Given the description of an element on the screen output the (x, y) to click on. 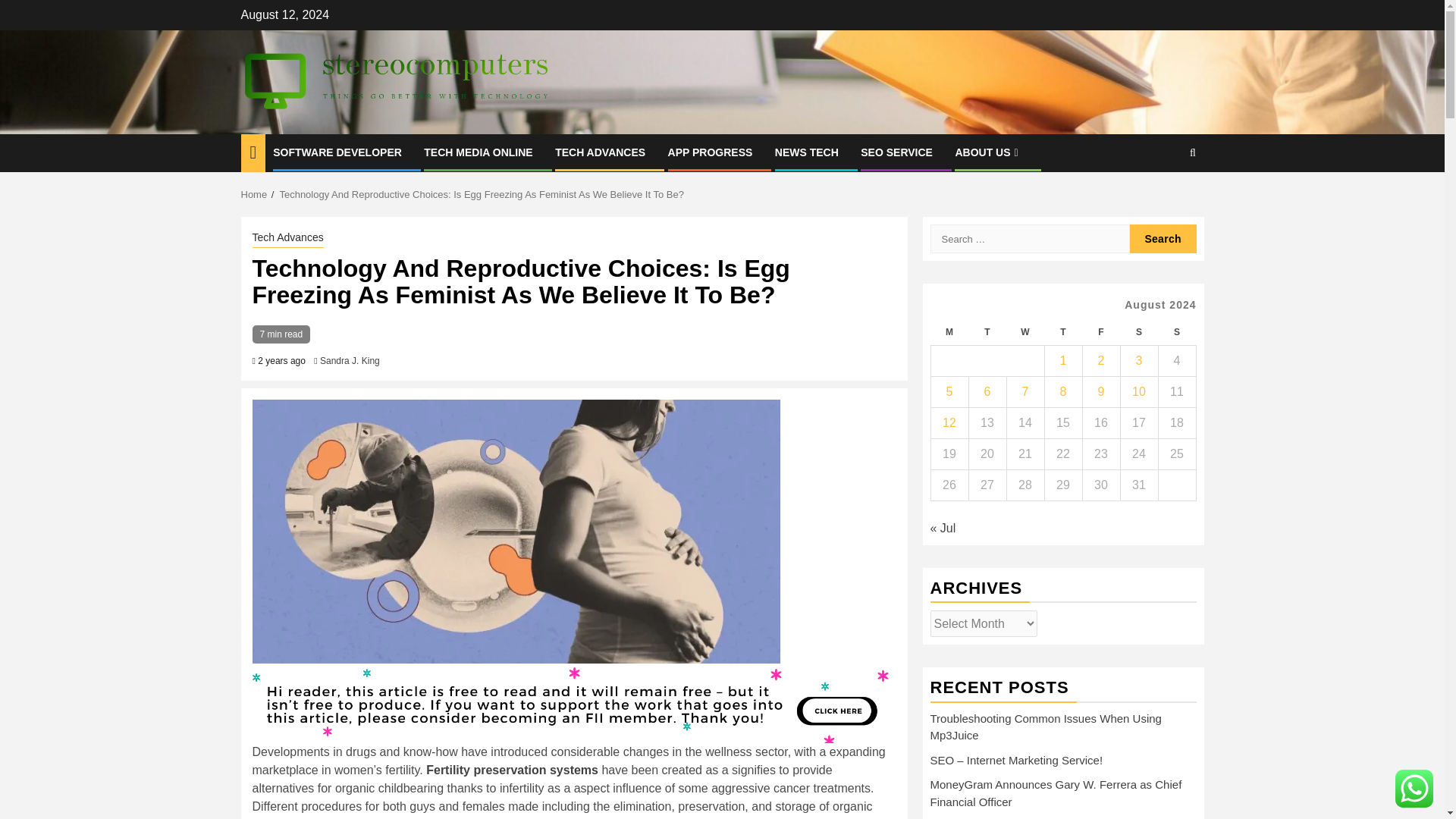
Search (1162, 238)
Sandra J. King (350, 360)
Search (1163, 199)
Tuesday (987, 332)
APP PROGRESS (710, 152)
NEWS TECH (806, 152)
Search (1162, 238)
Tech Advances (287, 239)
Home (254, 194)
